Given the description of an element on the screen output the (x, y) to click on. 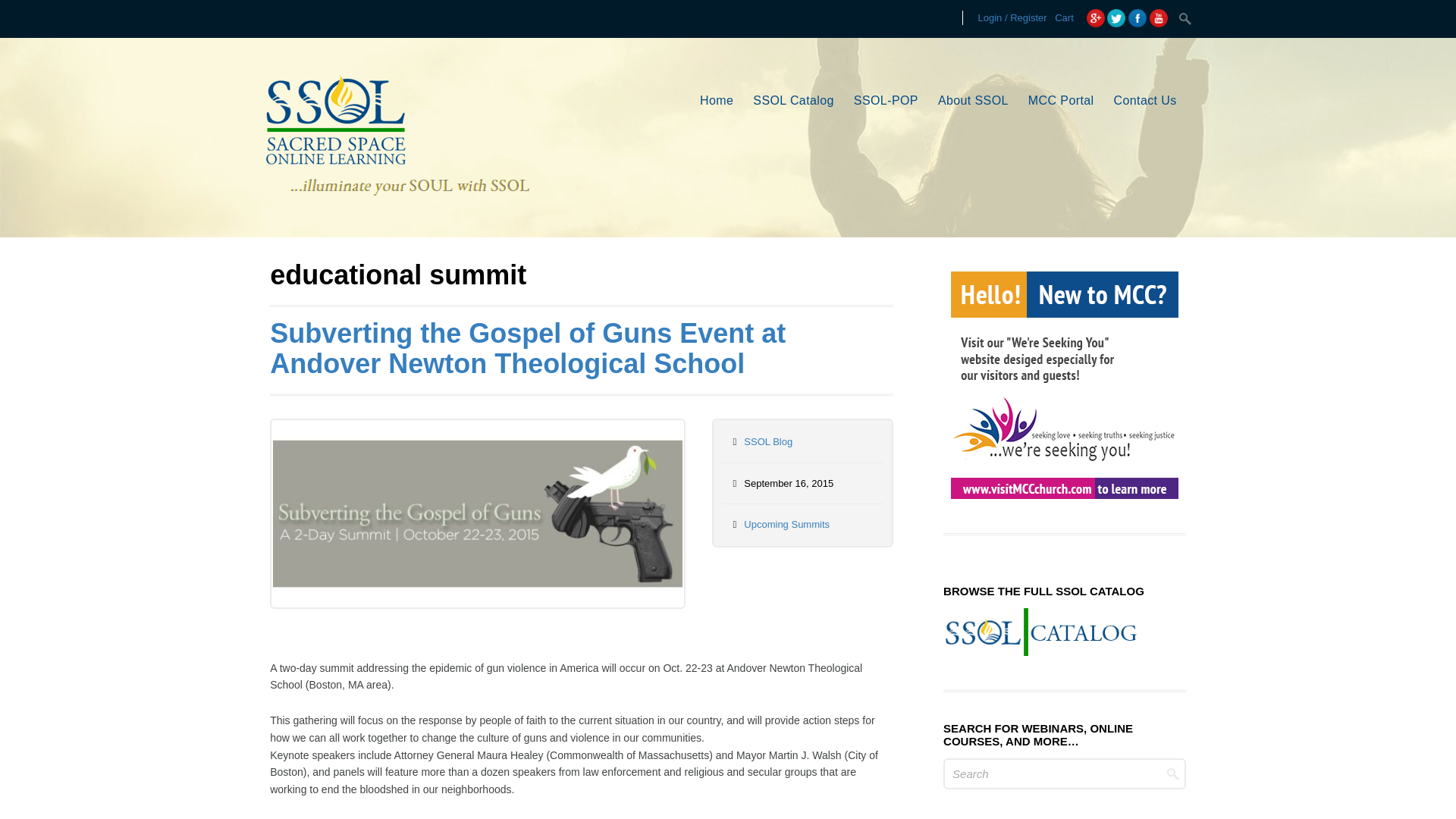
About SSOL (973, 101)
Search (1064, 773)
Twitter (1115, 18)
Search (1185, 18)
MCC Portal (1060, 101)
Sacred Space Online Learning (396, 213)
Cart (1064, 17)
Facebook (1137, 18)
SSOL-POP (885, 101)
Posts by SSOL Blog (768, 441)
You Tube (1158, 18)
Send (621, 464)
Contact Us (1144, 101)
Home (716, 101)
SSOL Catalog (793, 101)
